Given the description of an element on the screen output the (x, y) to click on. 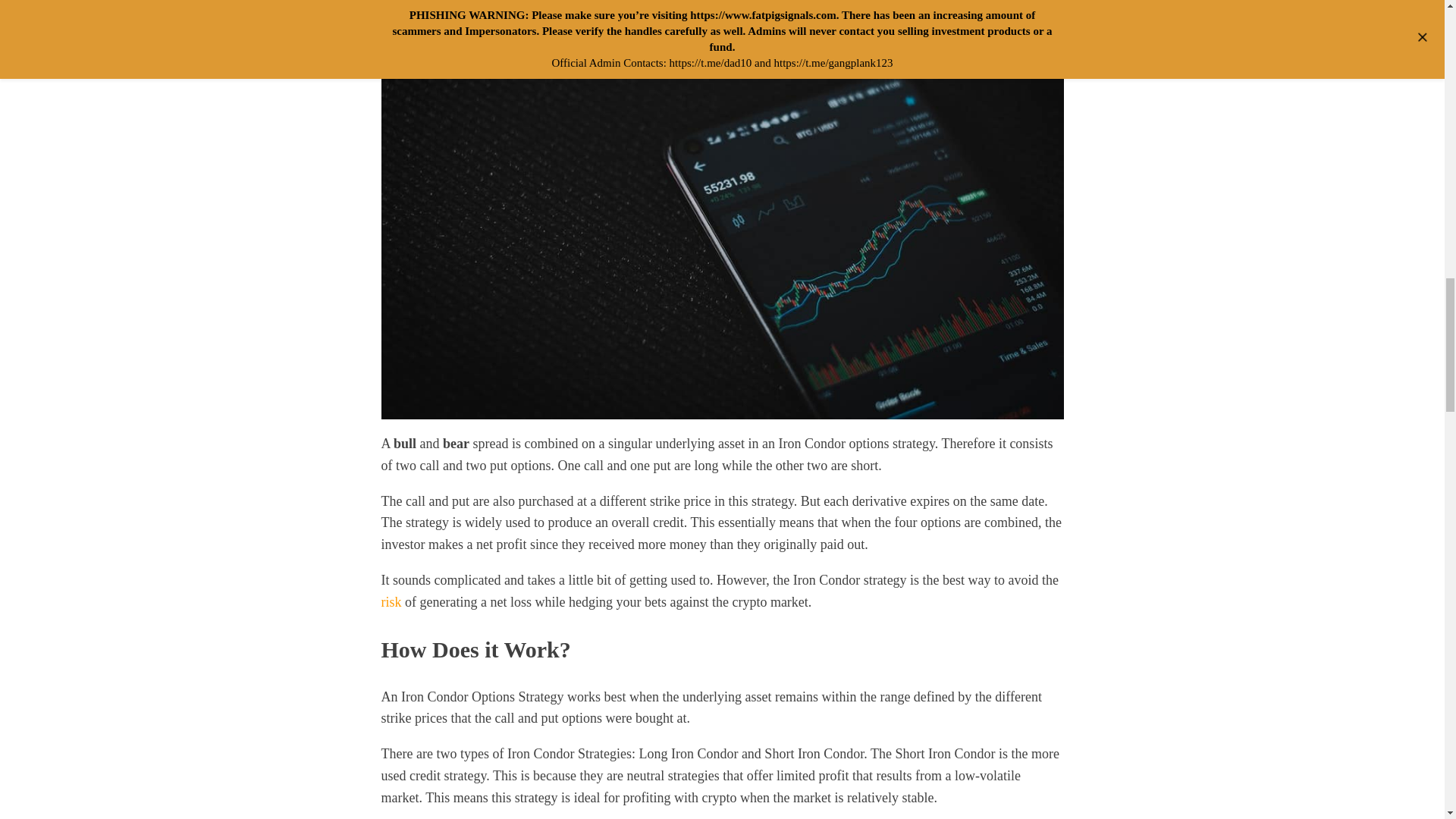
risk (390, 601)
